Given the description of an element on the screen output the (x, y) to click on. 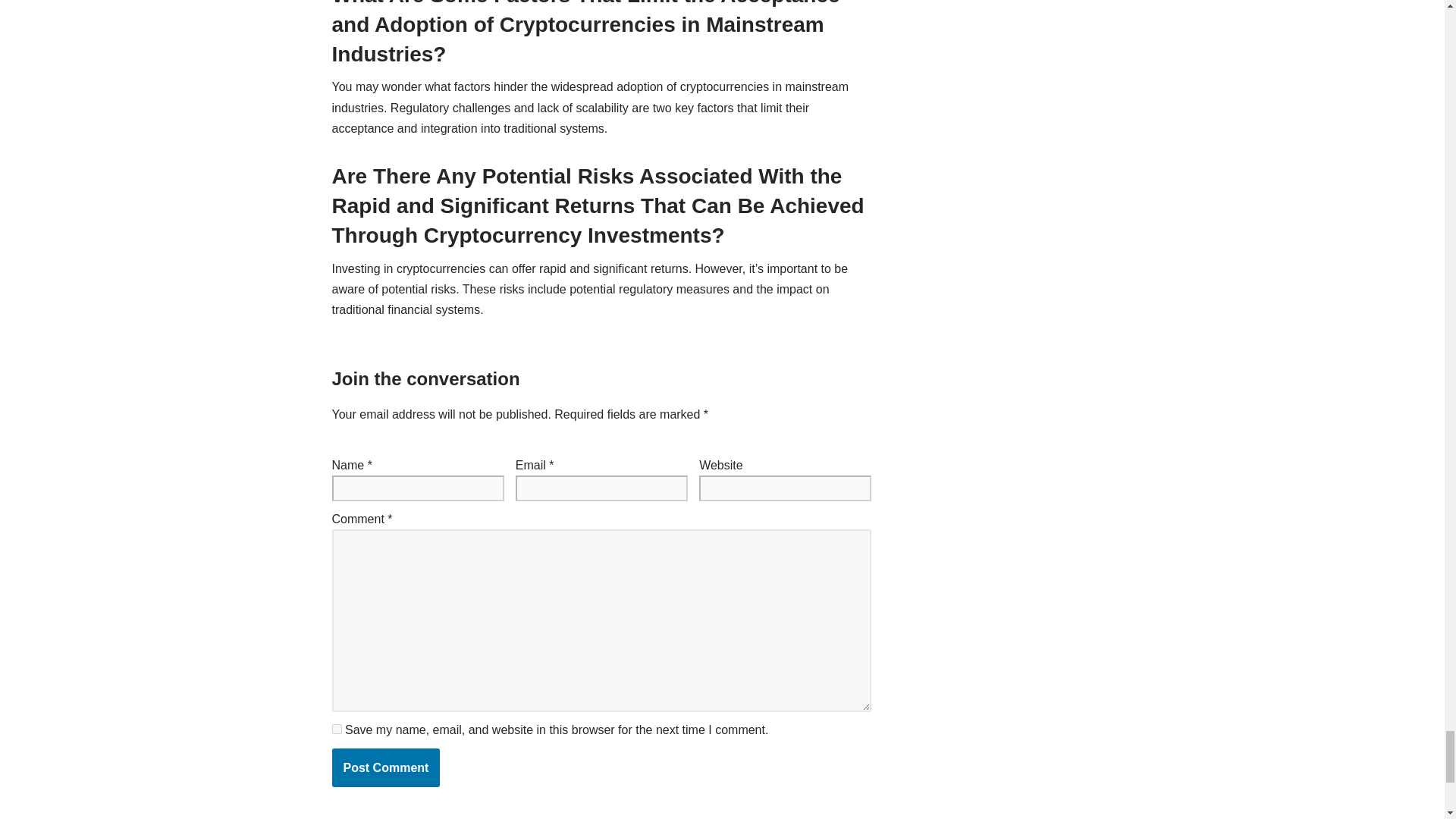
Post Comment (386, 767)
yes (336, 728)
Post Comment (386, 767)
